Given the description of an element on the screen output the (x, y) to click on. 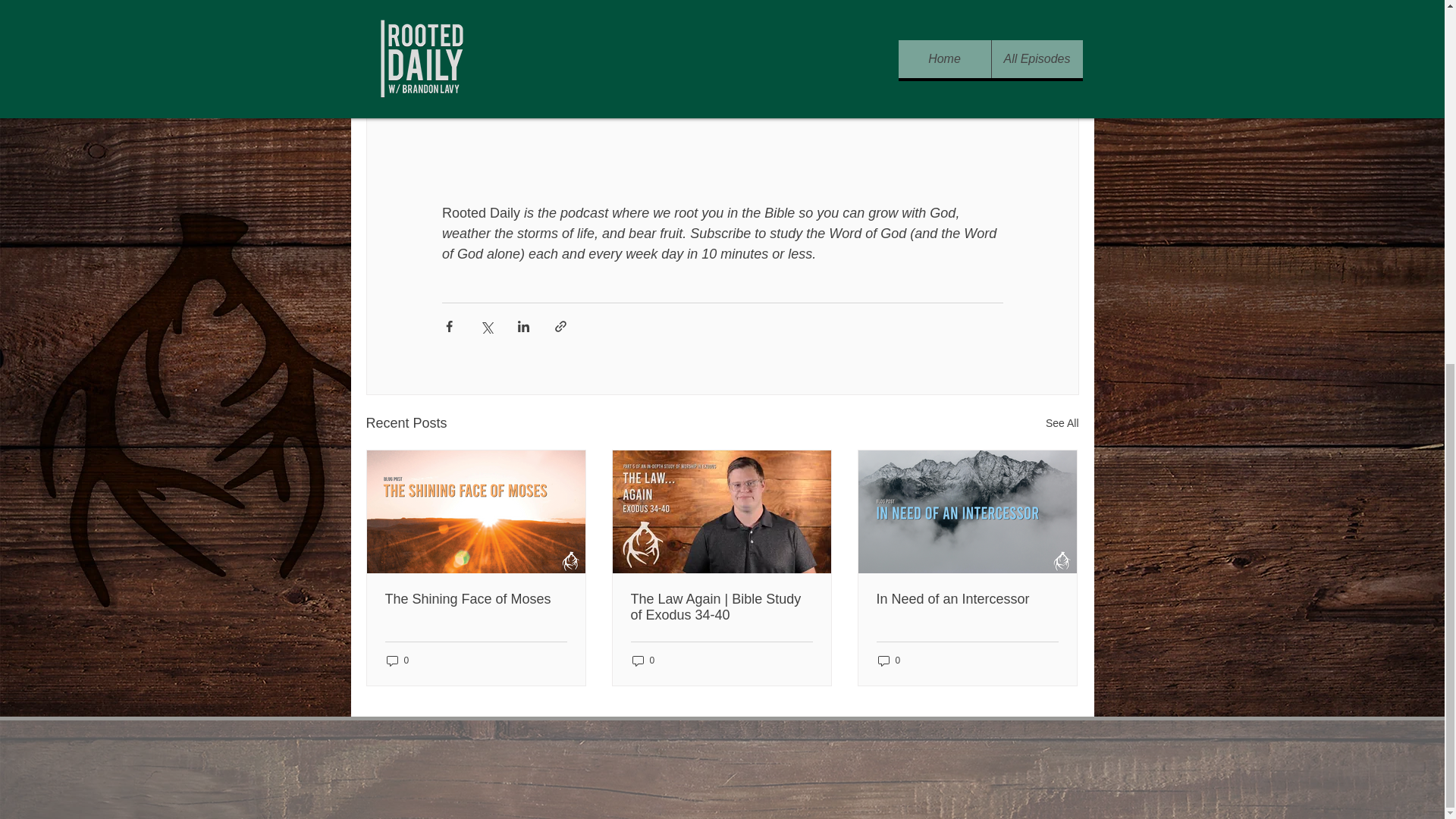
0 (397, 660)
The Shining Face of Moses (476, 599)
0 (643, 660)
See All (1061, 423)
In Need of an Intercessor (967, 599)
0 (889, 660)
